Given the description of an element on the screen output the (x, y) to click on. 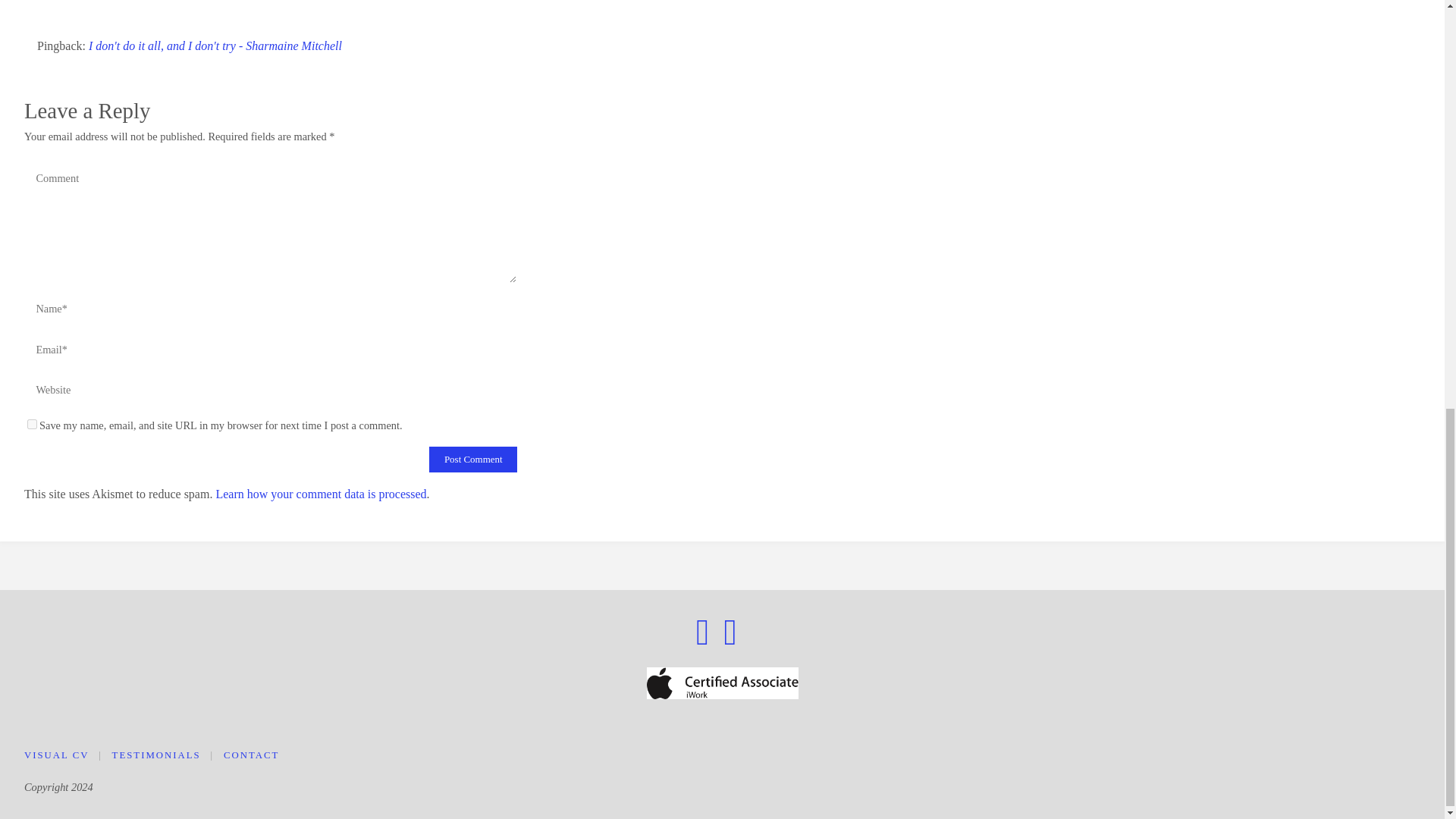
CONTACT (251, 755)
yes (32, 424)
Post Comment (472, 459)
Learn how your comment data is processed (320, 493)
I don't do it all, and I don't try - Sharmaine Mitchell (215, 45)
VISUAL CV (56, 755)
Post Comment (472, 459)
TESTIMONIALS (156, 755)
